Given the description of an element on the screen output the (x, y) to click on. 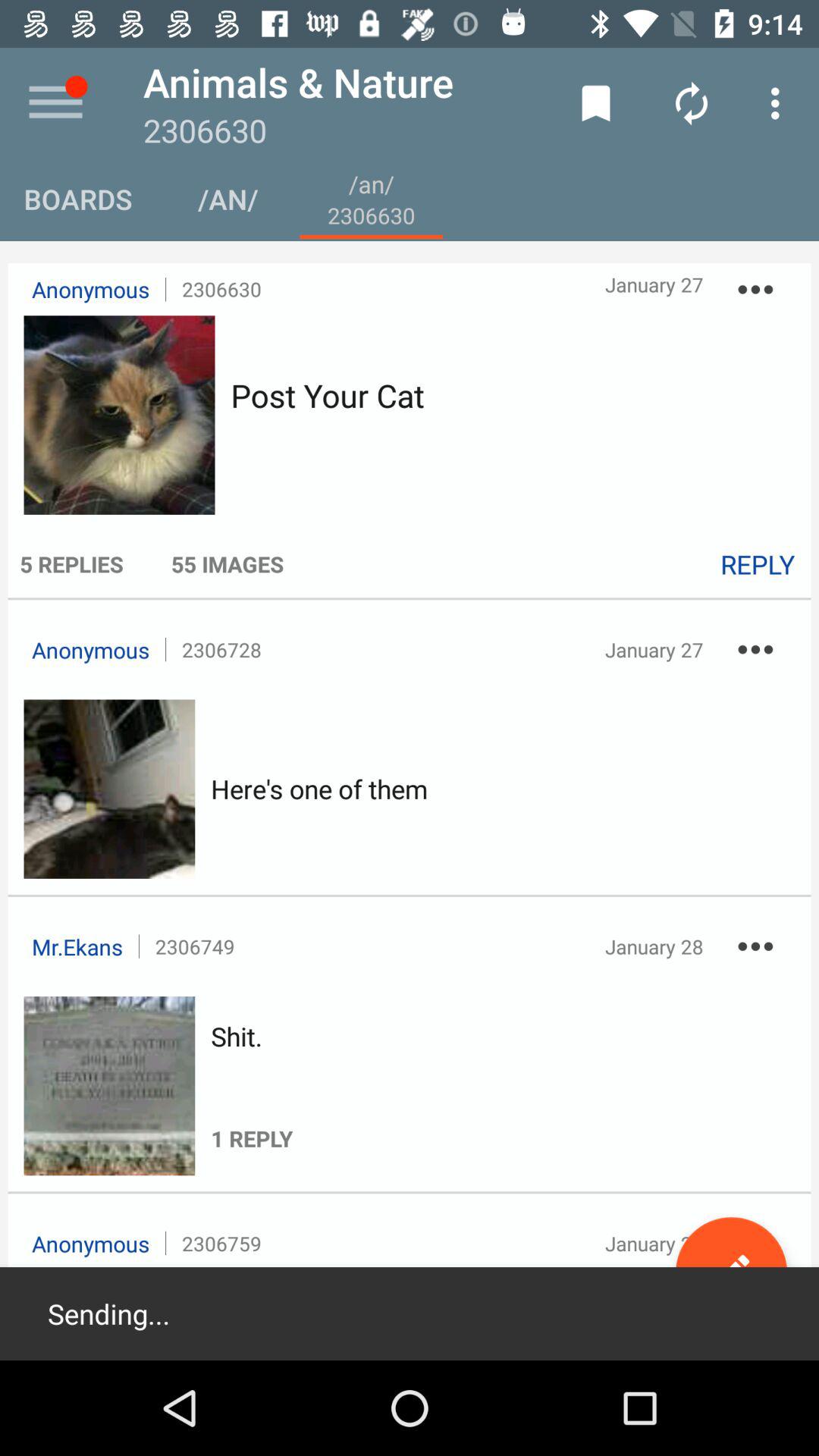
turn off the item at the center (319, 788)
